Given the description of an element on the screen output the (x, y) to click on. 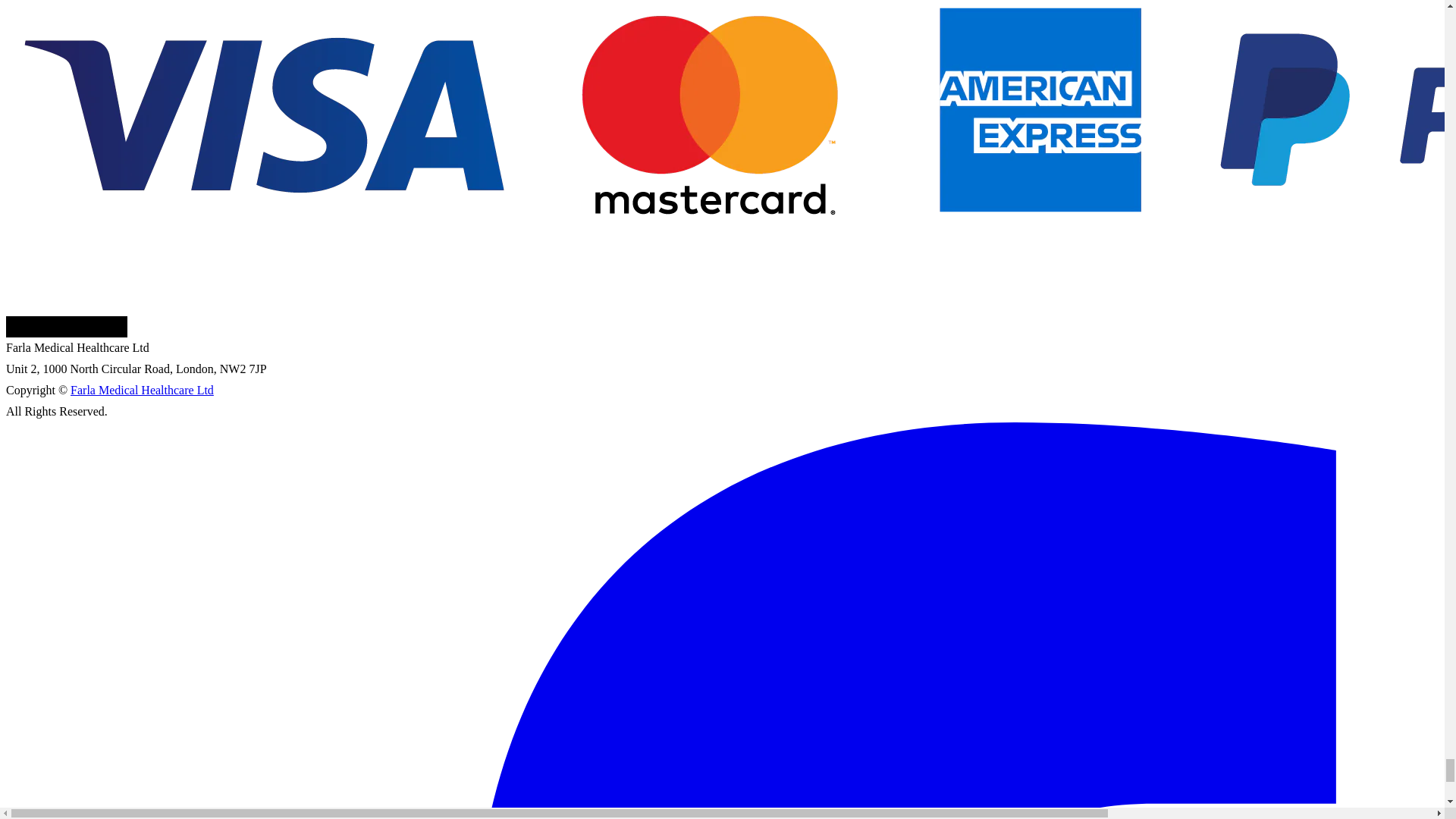
Farla Medical Healthcare (66, 326)
